Given the description of an element on the screen output the (x, y) to click on. 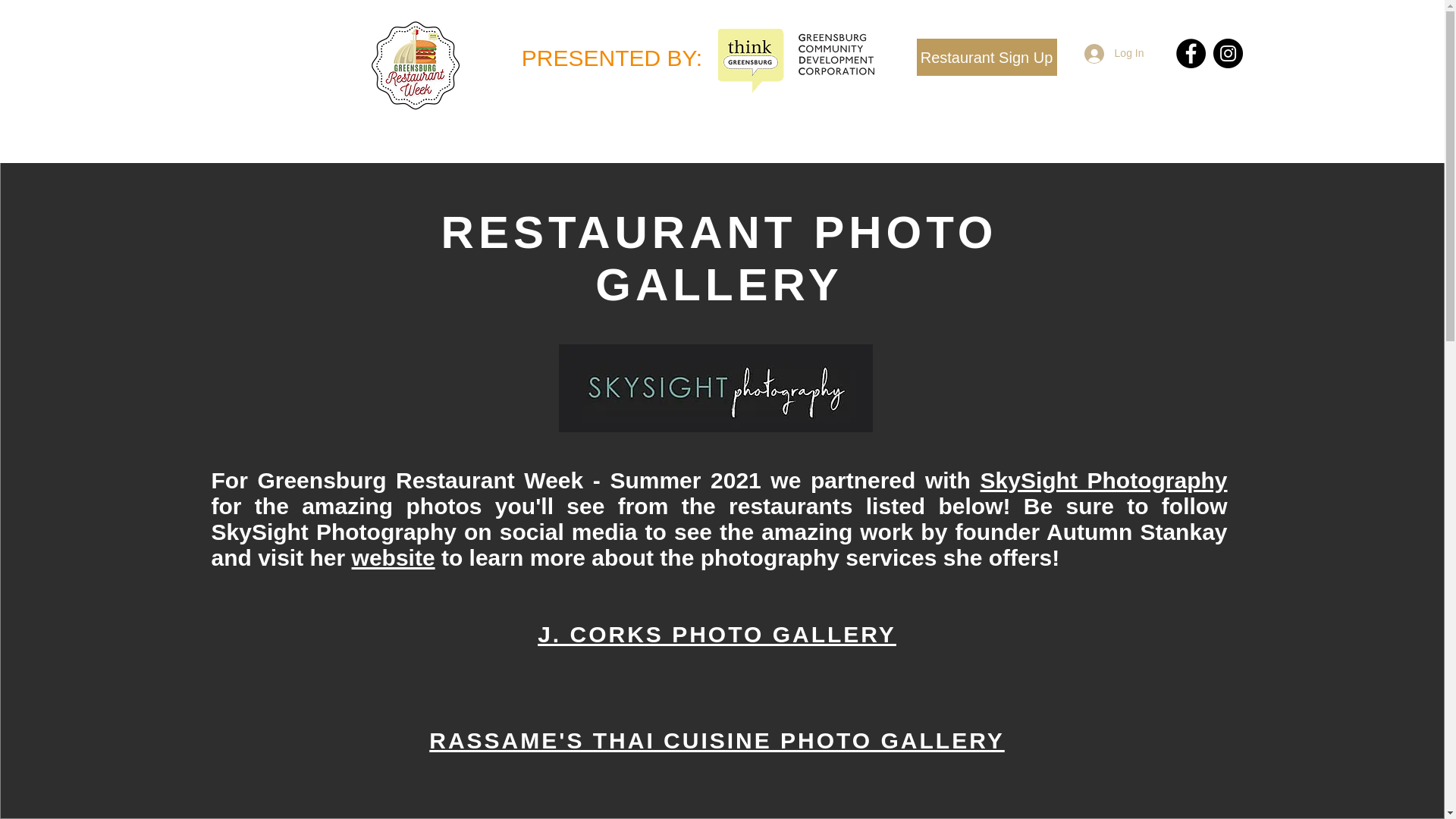
SkySight Photography (1103, 480)
Restaurant Sign Up (986, 57)
Log In (1114, 53)
website (393, 557)
J. CORKS PHOTO GALLERY (716, 634)
RASSAME'S THAI CUISINE PHOTO GALLERY (716, 740)
